Given the description of an element on the screen output the (x, y) to click on. 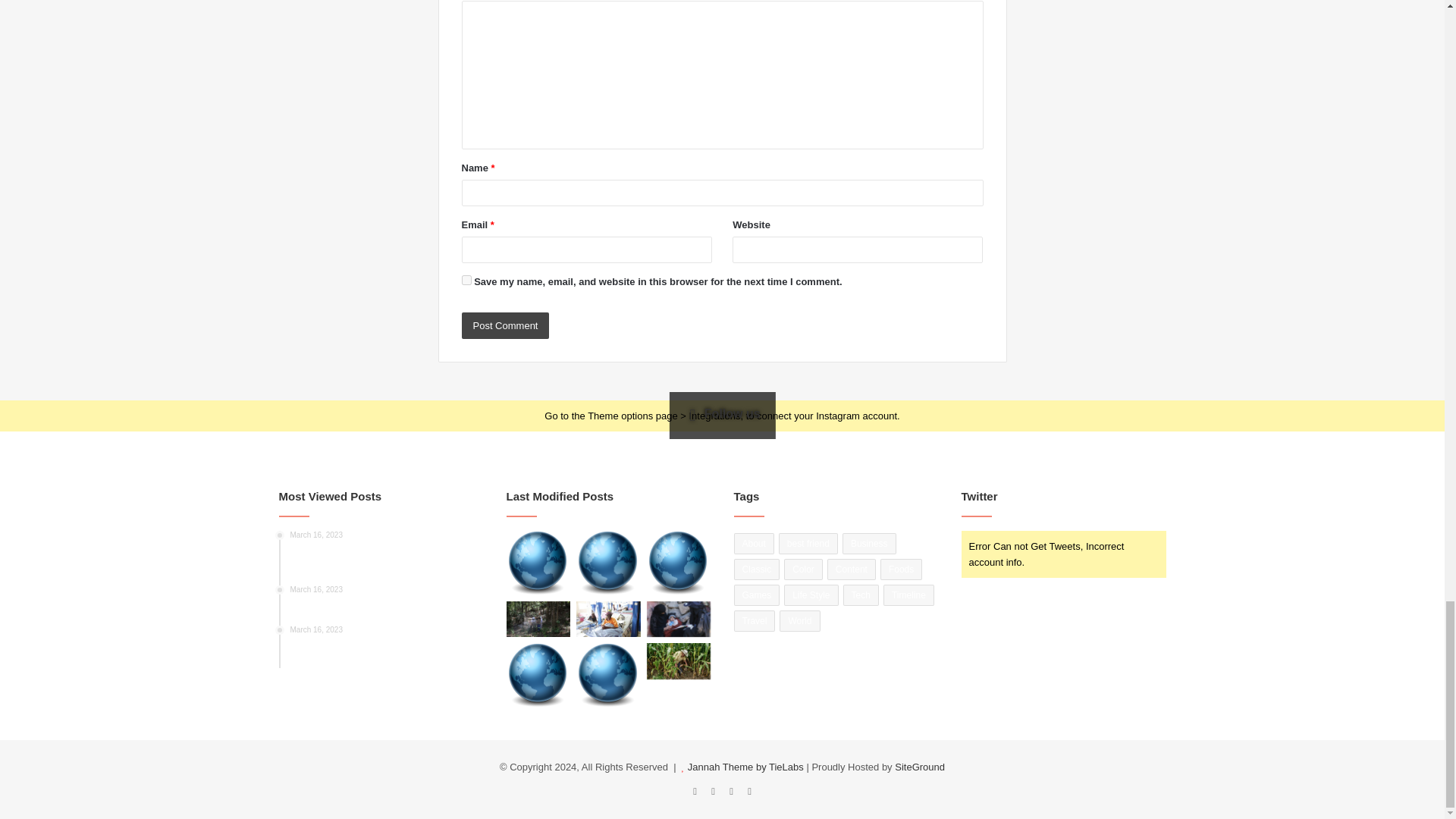
Post Comment (504, 325)
yes (465, 280)
Follow us (722, 413)
